Given the description of an element on the screen output the (x, y) to click on. 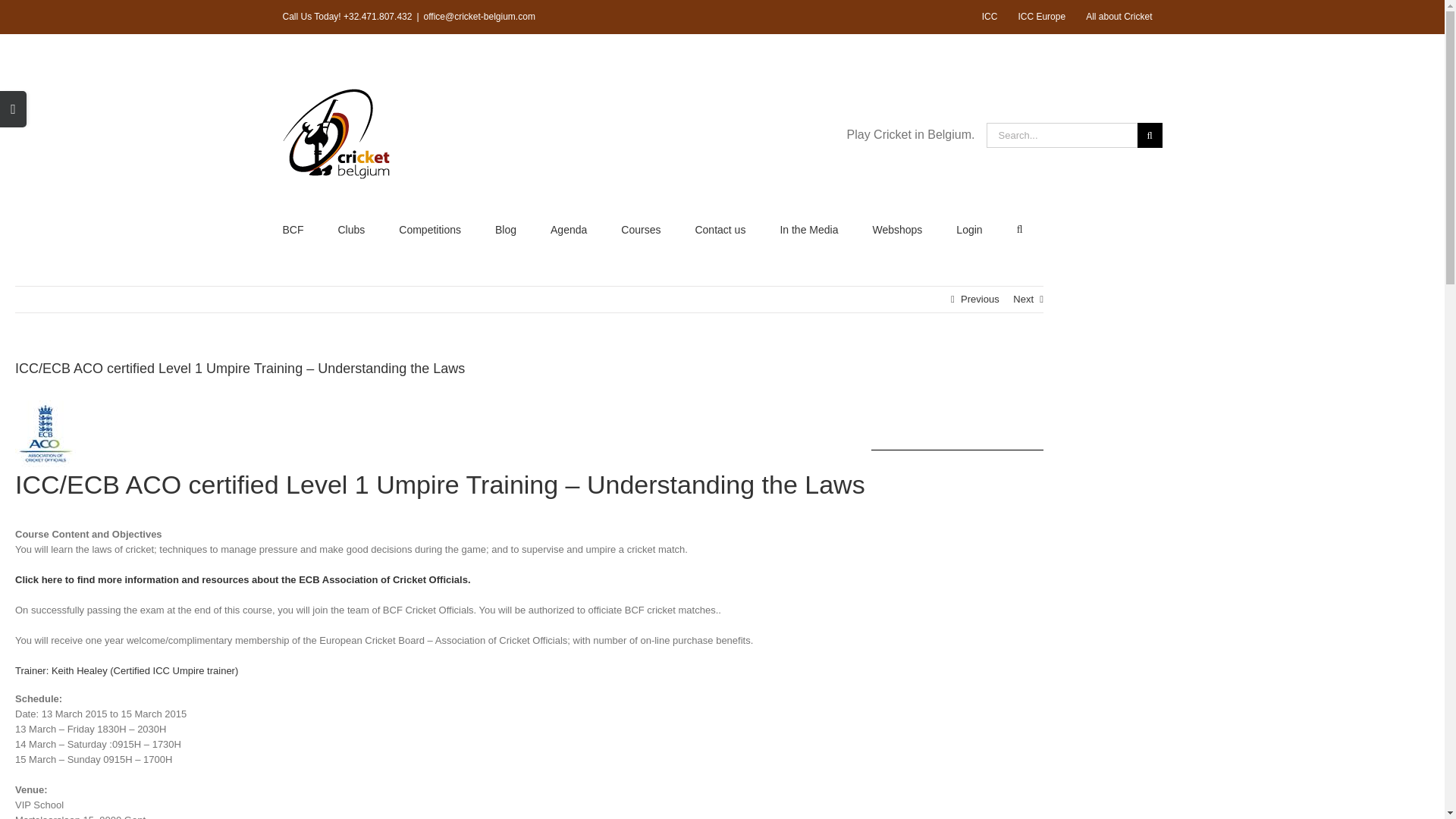
ICC (989, 16)
ICC Europe (1041, 16)
ECB ACO resources (243, 579)
All about Cricket (1118, 16)
